Given the description of an element on the screen output the (x, y) to click on. 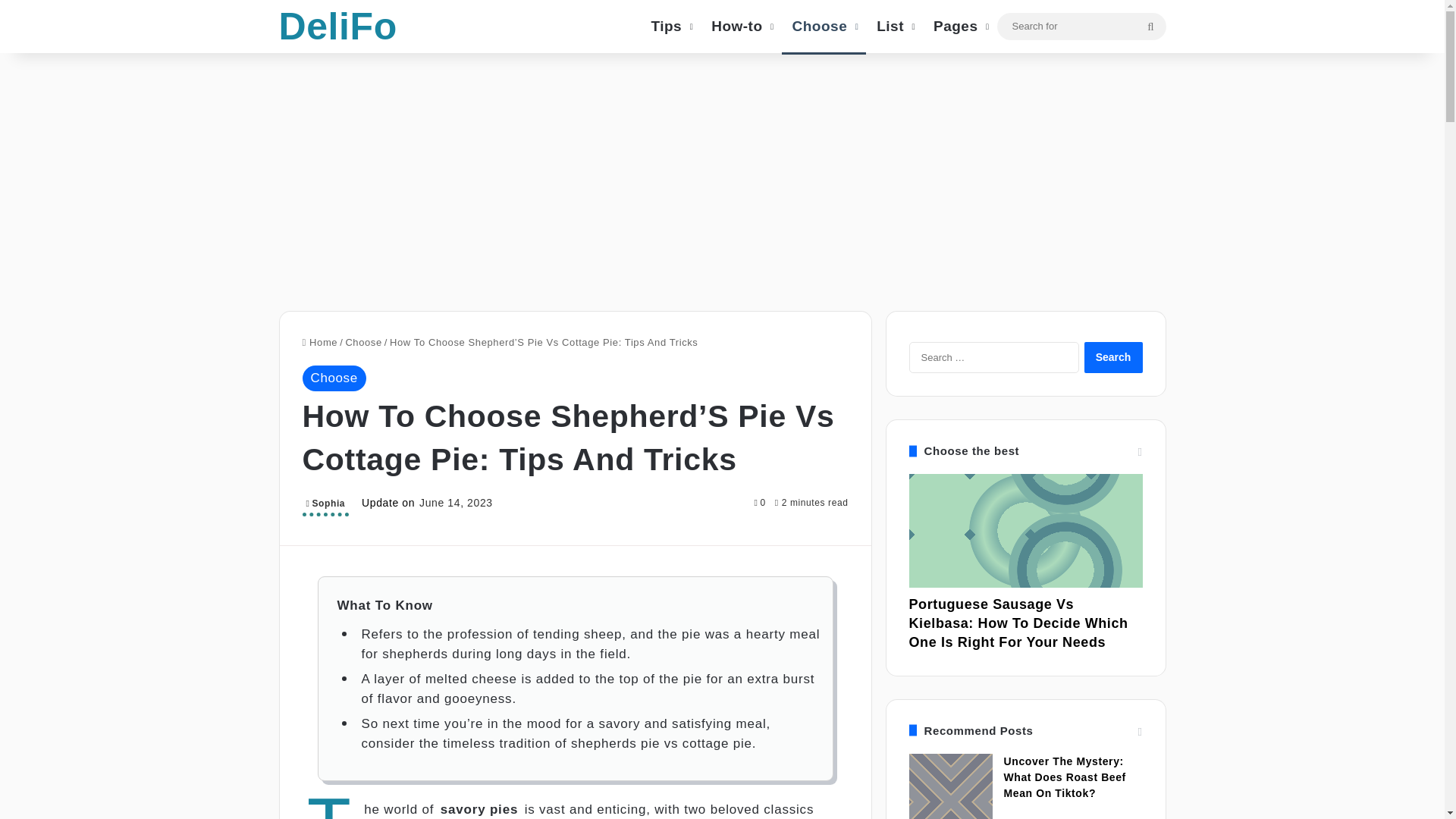
List (894, 26)
Tips (670, 26)
Sophia (325, 505)
How-to (740, 26)
Choose (823, 26)
Search (1113, 357)
Choose (333, 378)
Choose (363, 342)
Sophia (325, 505)
Pages (959, 26)
Search for (1150, 25)
DeliFo (338, 26)
DeliFo (338, 26)
Search for (1080, 25)
